Given the description of an element on the screen output the (x, y) to click on. 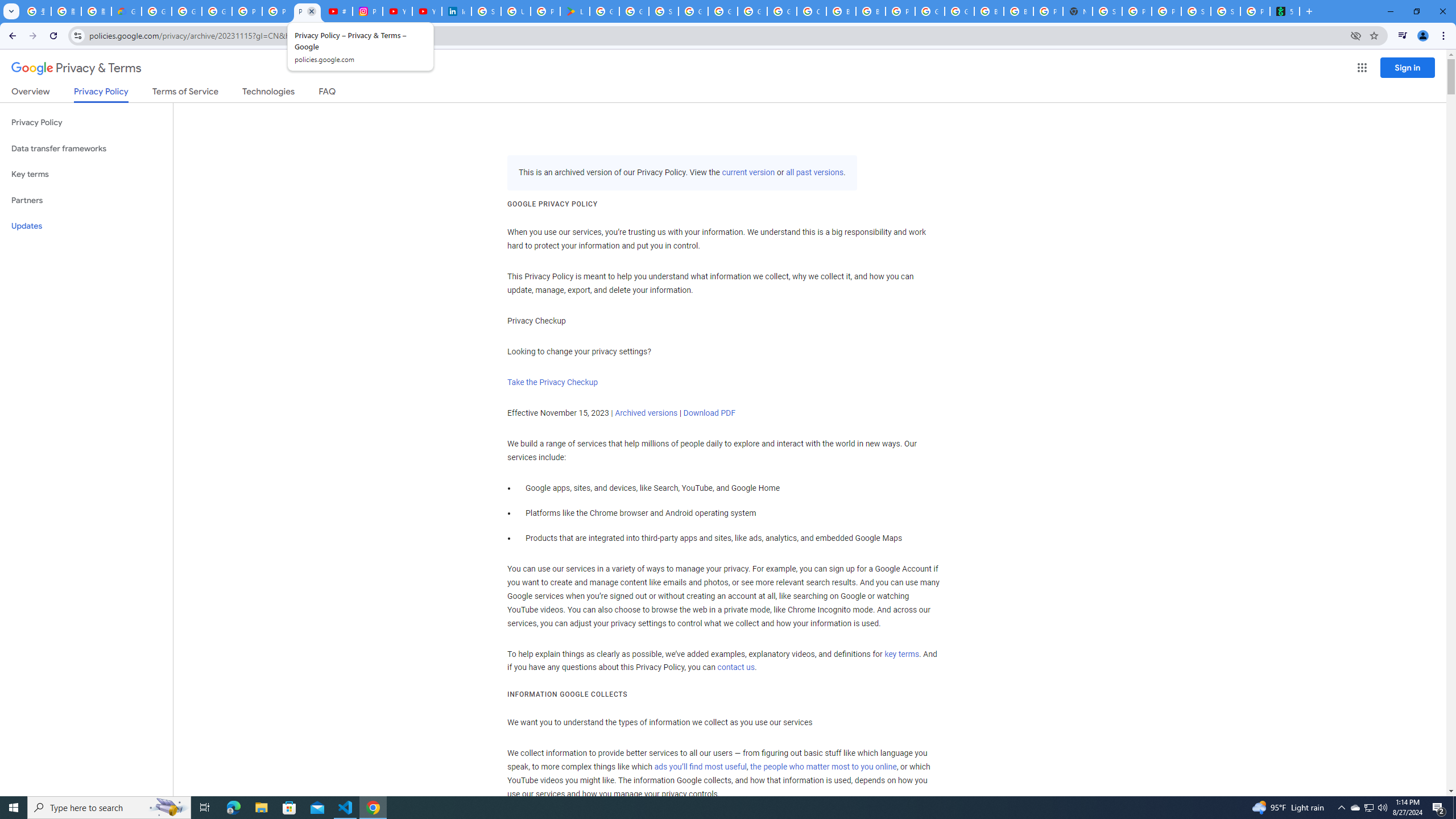
Google Cloud Platform (751, 11)
Google Cloud Platform (929, 11)
